Given the description of an element on the screen output the (x, y) to click on. 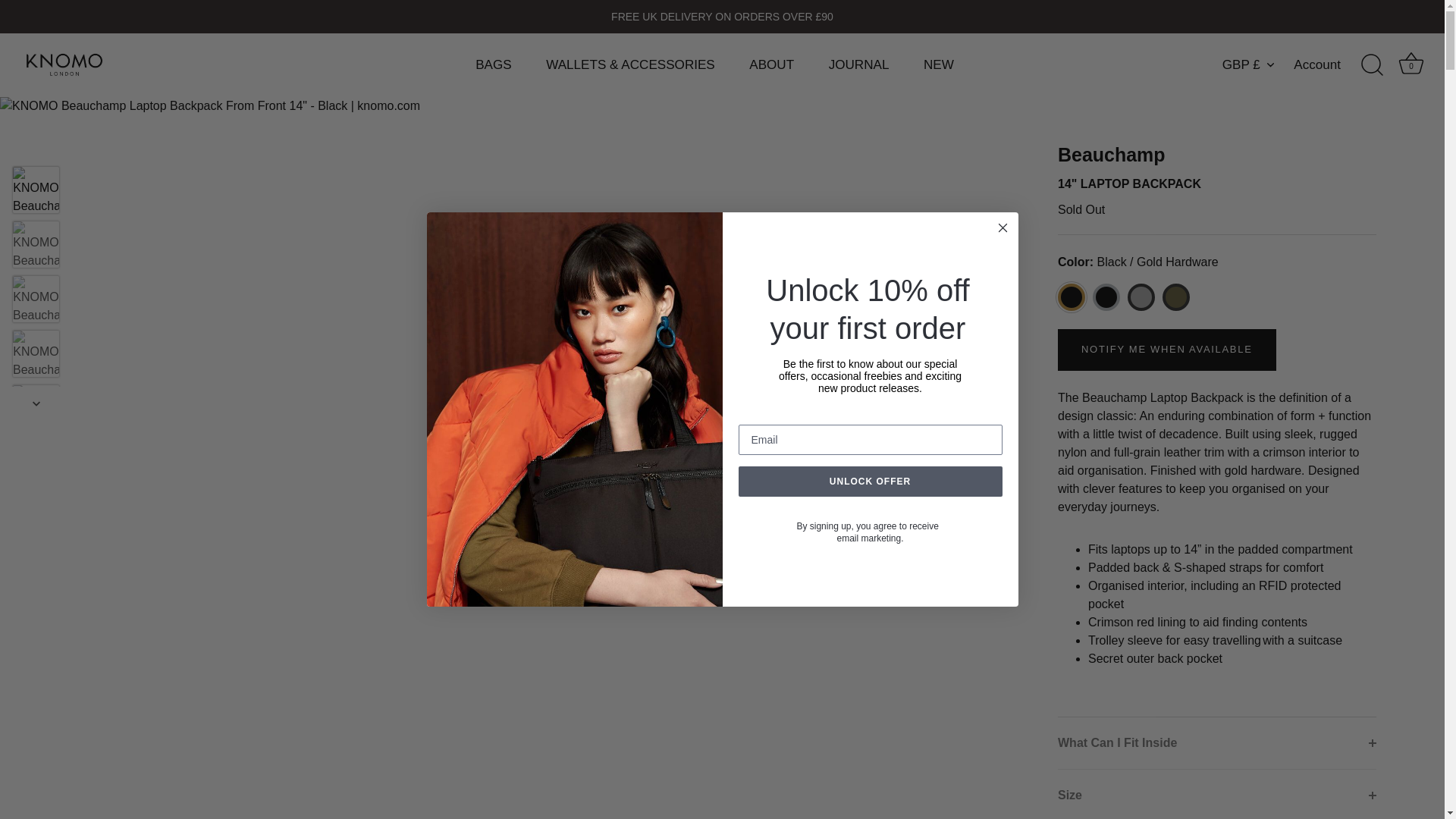
ABOUT (771, 64)
BAGS (493, 64)
JOURNAL (858, 64)
NEW (938, 64)
Basket (1410, 63)
